Given the description of an element on the screen output the (x, y) to click on. 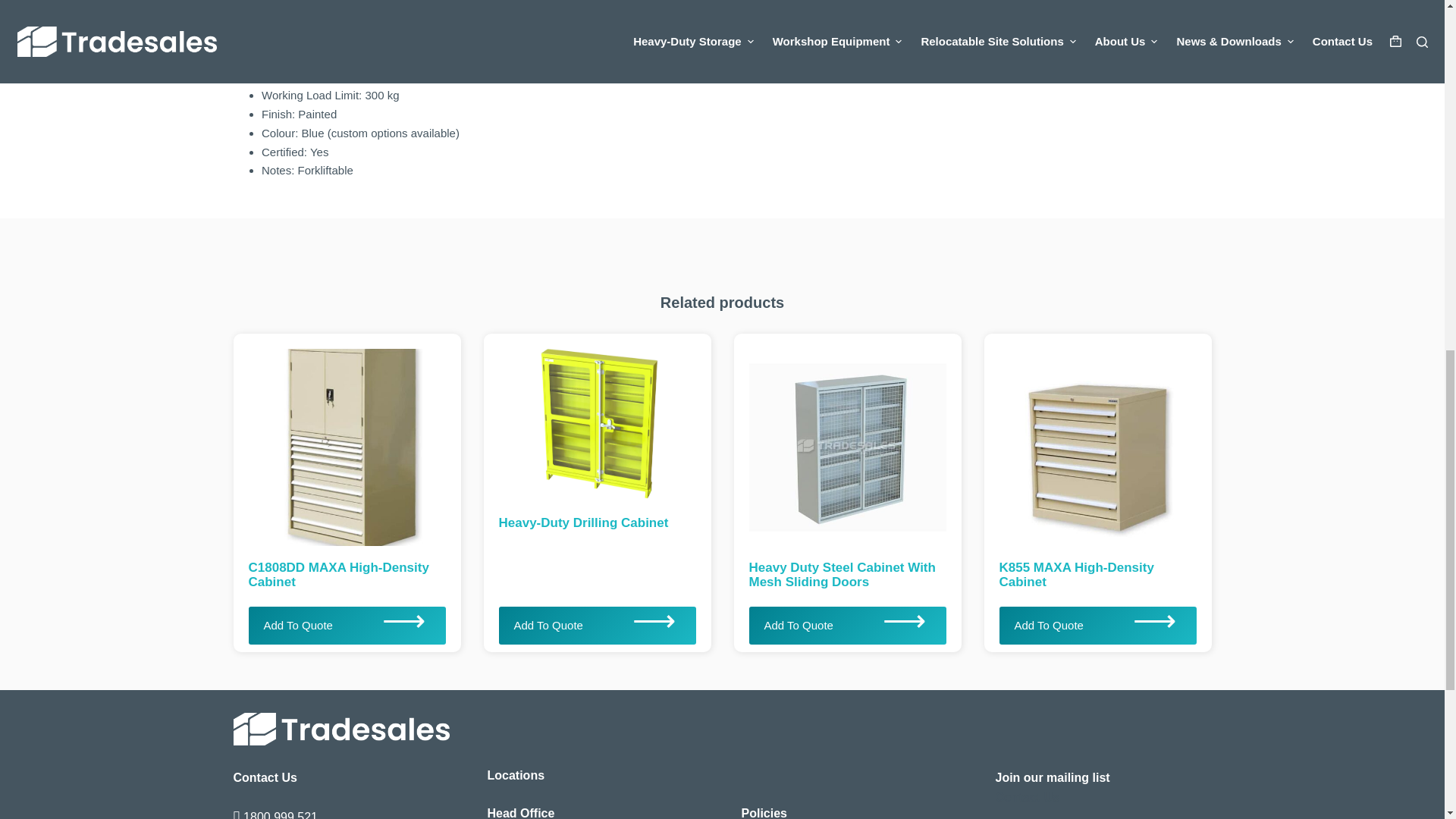
15953-F (586, 417)
K855-MAXA-high-density-storage-module.jpg (1087, 437)
13592-WO-21925-FULL-ASSY.jpg (837, 437)
